Given the description of an element on the screen output the (x, y) to click on. 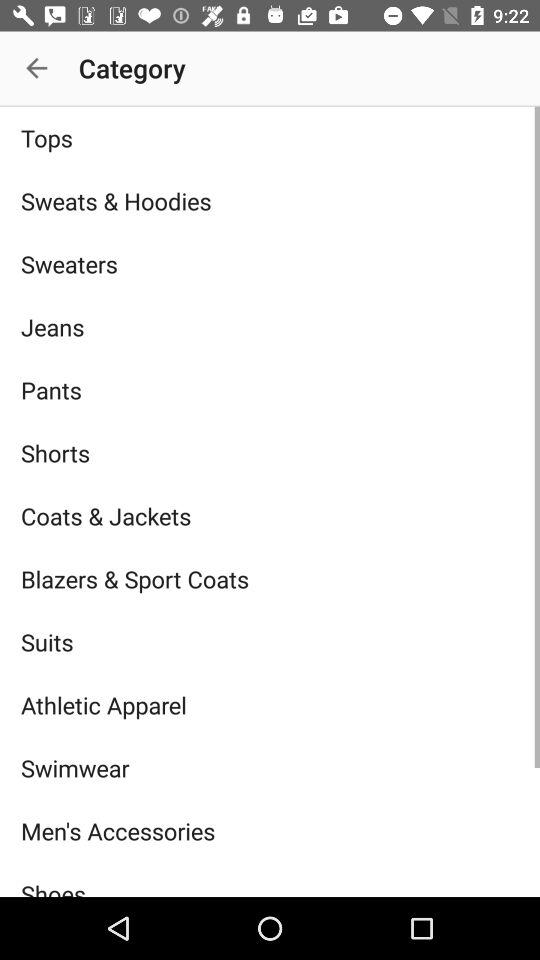
turn on item above the athletic apparel (270, 641)
